Given the description of an element on the screen output the (x, y) to click on. 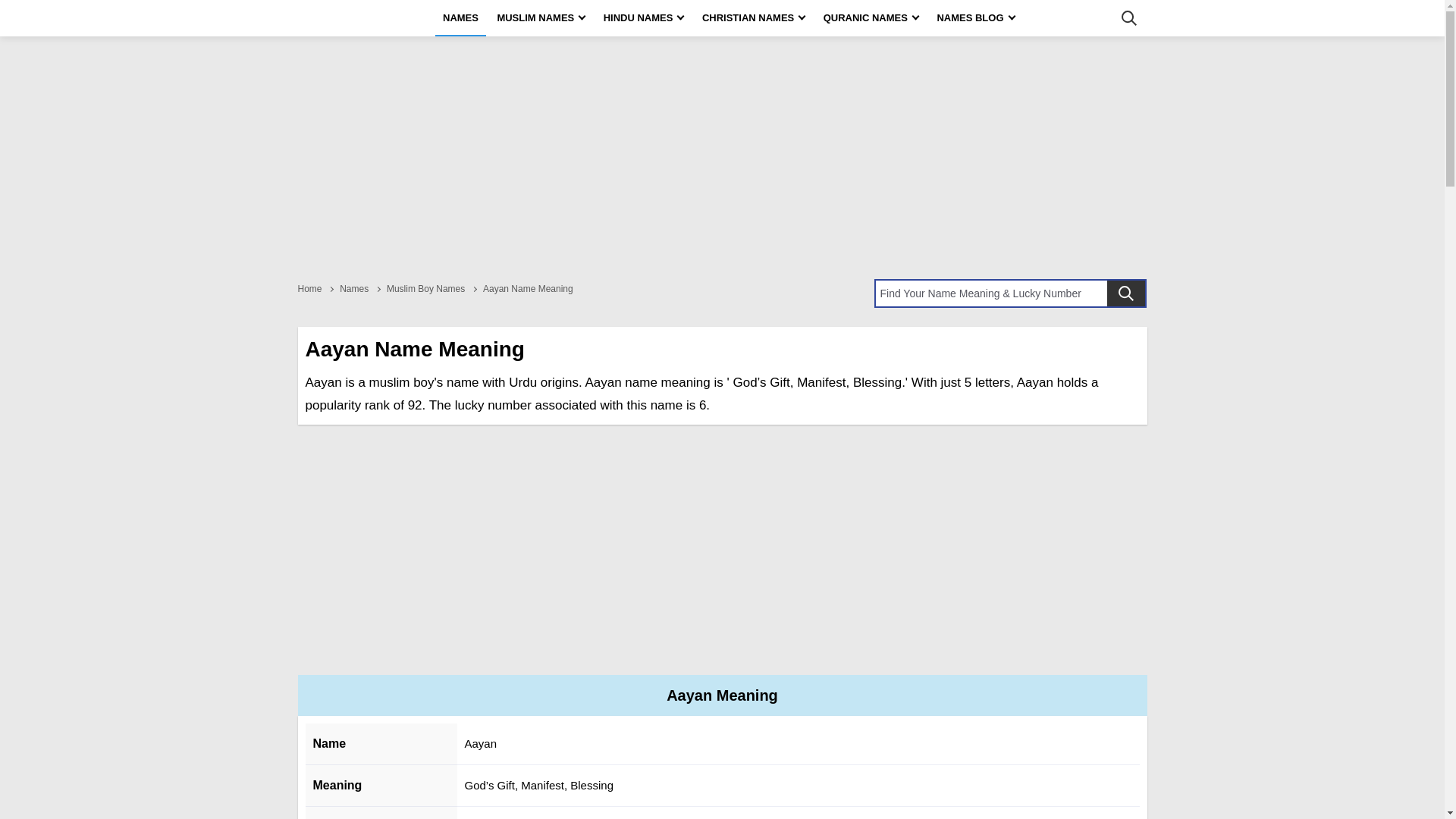
NAMES (460, 18)
MUSLIM NAMES (540, 18)
NAMES BLOG (975, 18)
HINDU NAMES (643, 18)
CHRISTIAN NAMES (753, 18)
Hamariweb (343, 18)
QURANIC NAMES (870, 18)
